Given the description of an element on the screen output the (x, y) to click on. 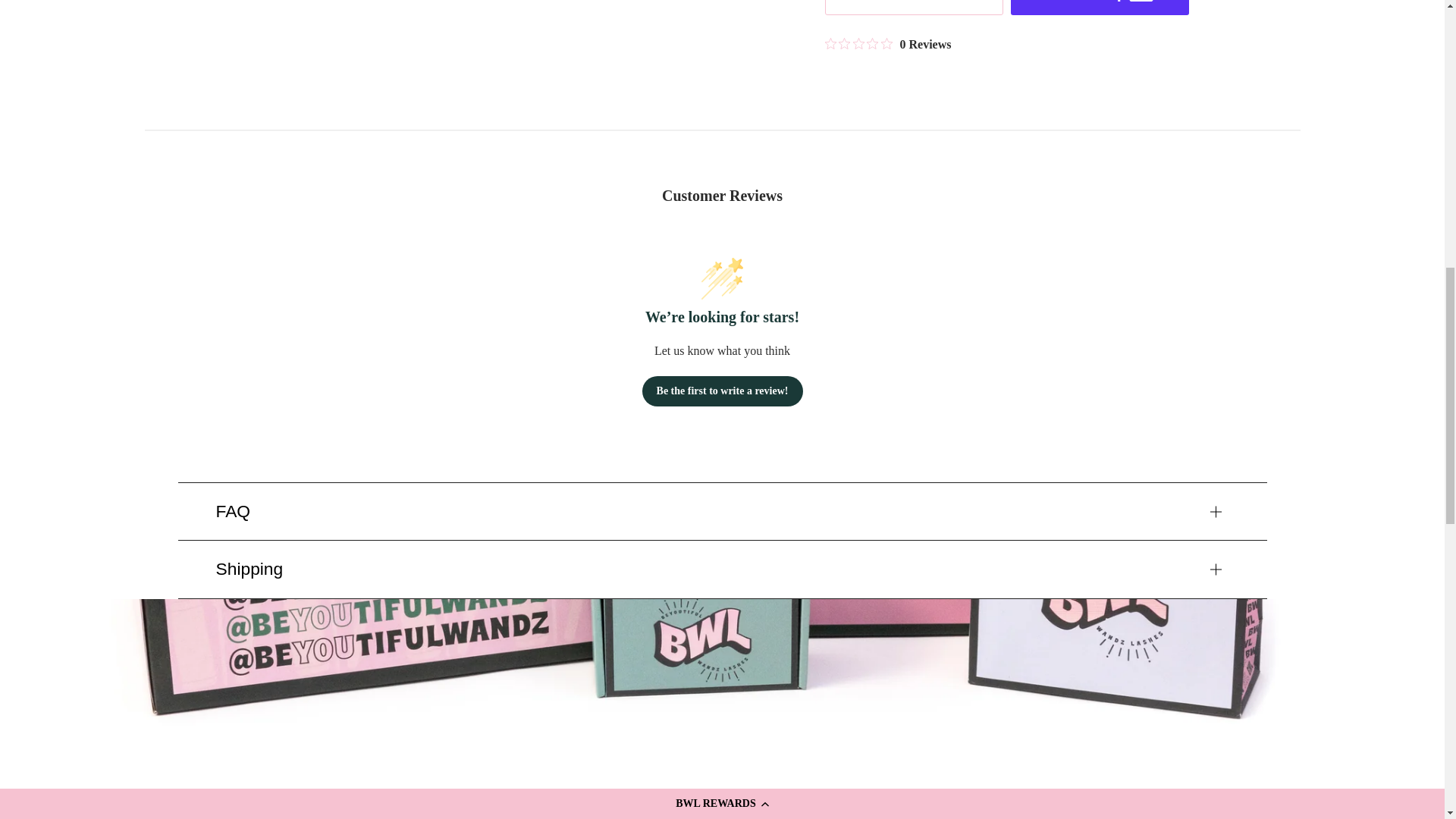
0 Reviews (888, 44)
